Given the description of an element on the screen output the (x, y) to click on. 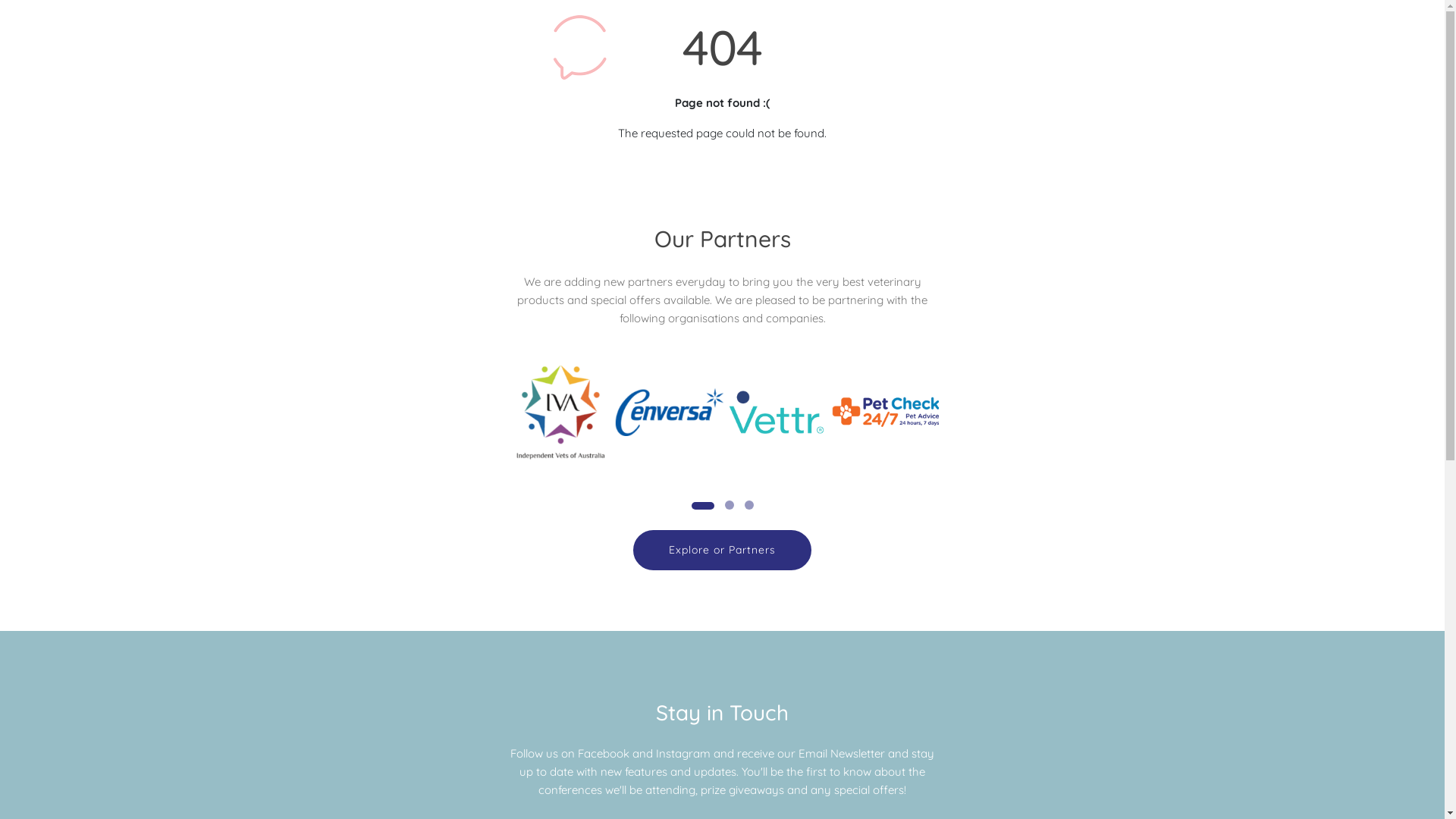
Contact Element type: text (907, 113)
FAQs Element type: text (833, 113)
Explore or Partners Element type: text (722, 550)
Pricing Element type: text (764, 113)
Home Element type: text (622, 113)
About Element type: text (691, 113)
